Given the description of an element on the screen output the (x, y) to click on. 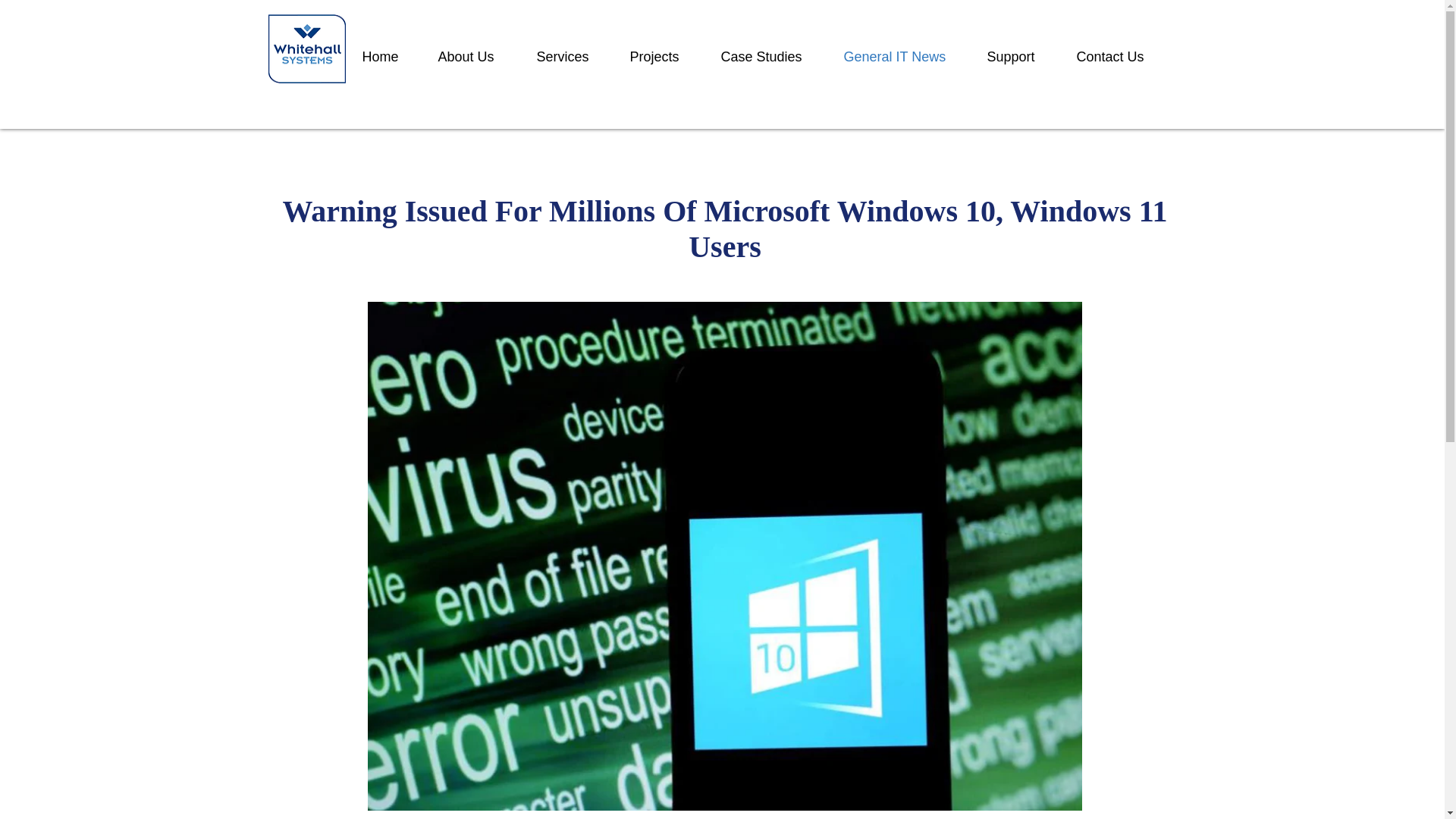
General IT News (903, 56)
Services (570, 56)
Contact Us (1118, 56)
Case Studies (771, 56)
About Us (475, 56)
Support (1019, 56)
Home (388, 56)
Projects (664, 56)
